Given the description of an element on the screen output the (x, y) to click on. 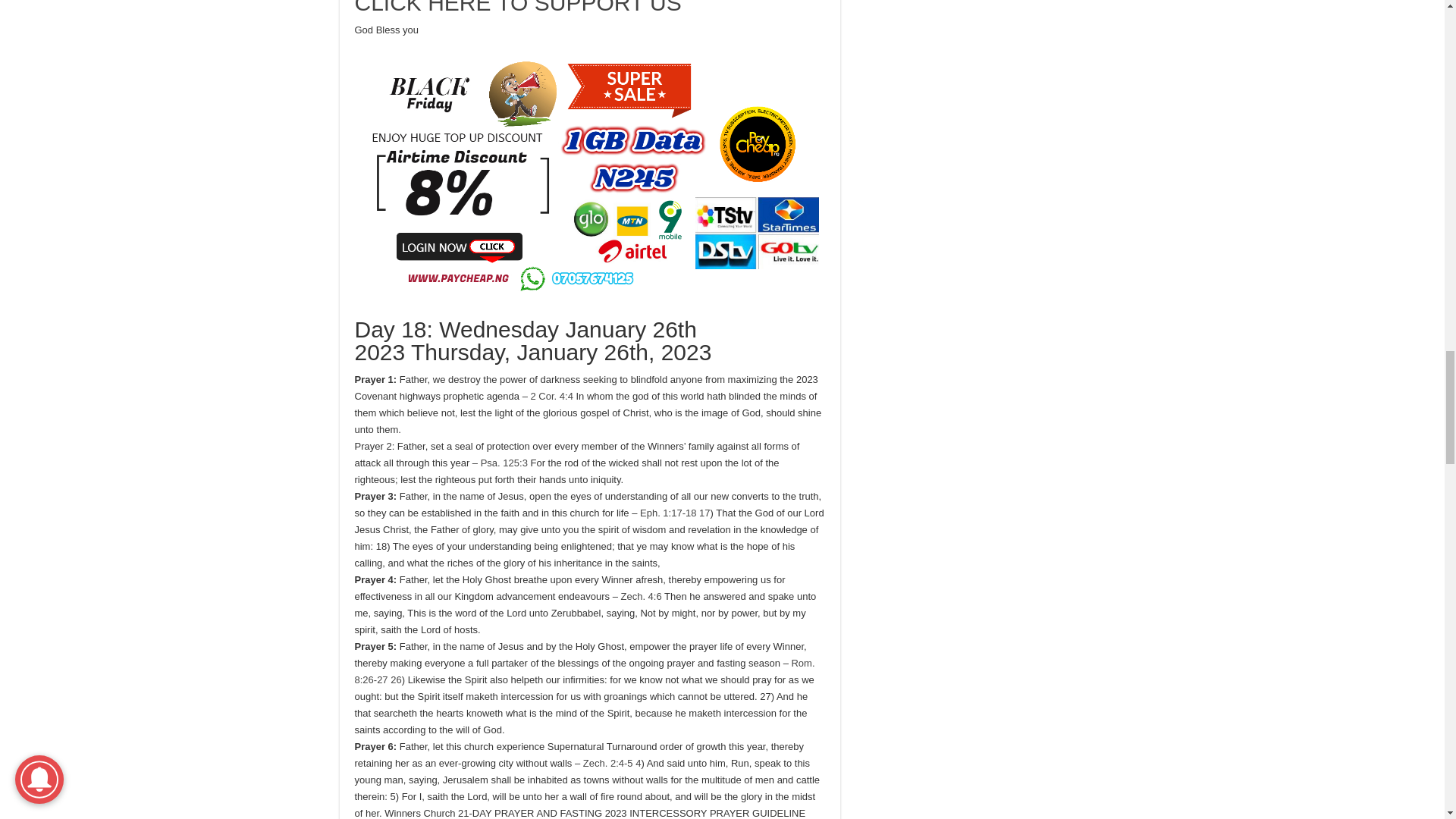
CLICK HERE TO SUPPORT US (518, 7)
